Given the description of an element on the screen output the (x, y) to click on. 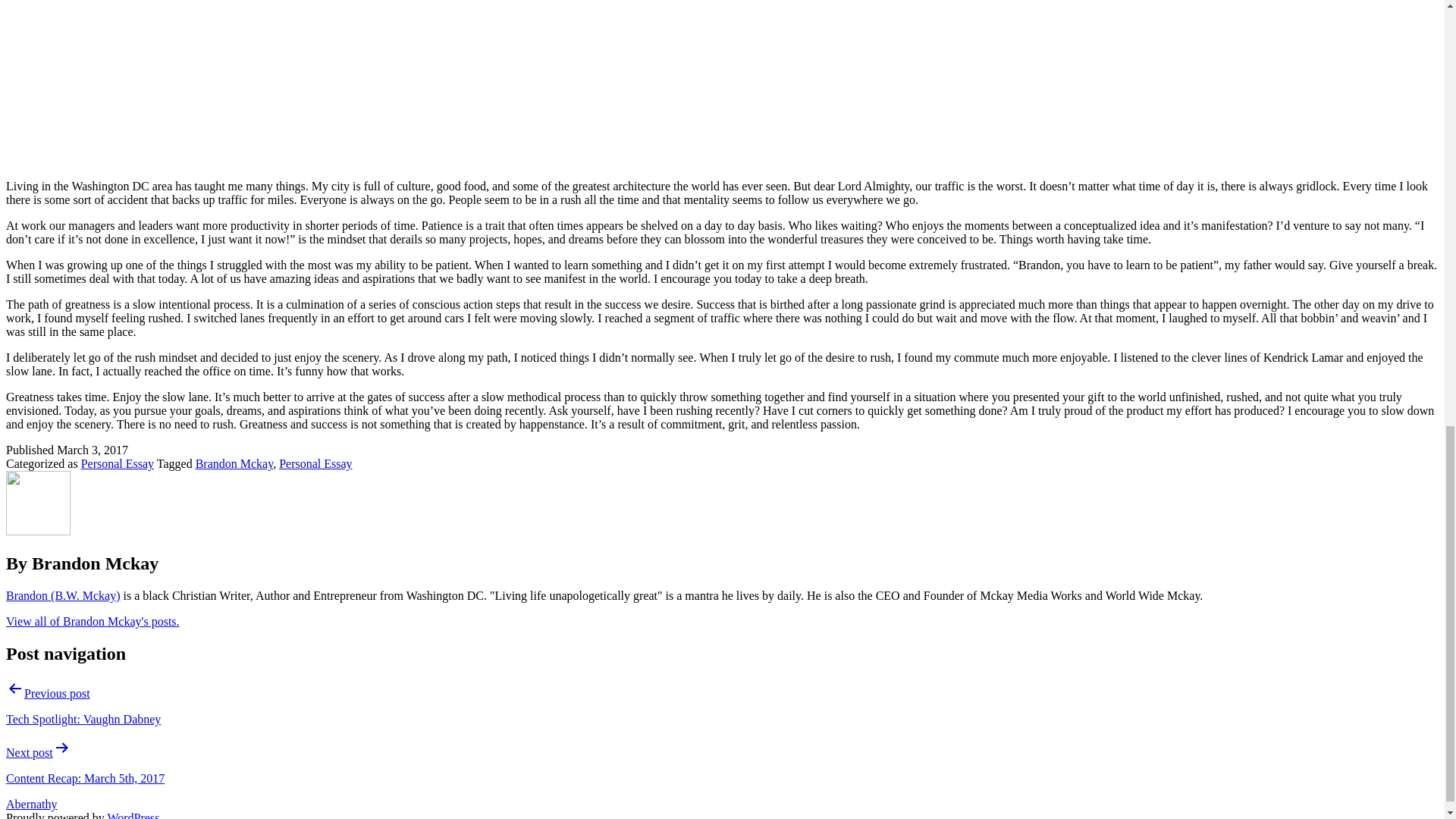
Brandon Mckay (234, 463)
Personal Essay (117, 463)
Personal Essay (315, 463)
View all of Brandon Mckay's posts. (92, 621)
Abernathy (31, 803)
